Given the description of an element on the screen output the (x, y) to click on. 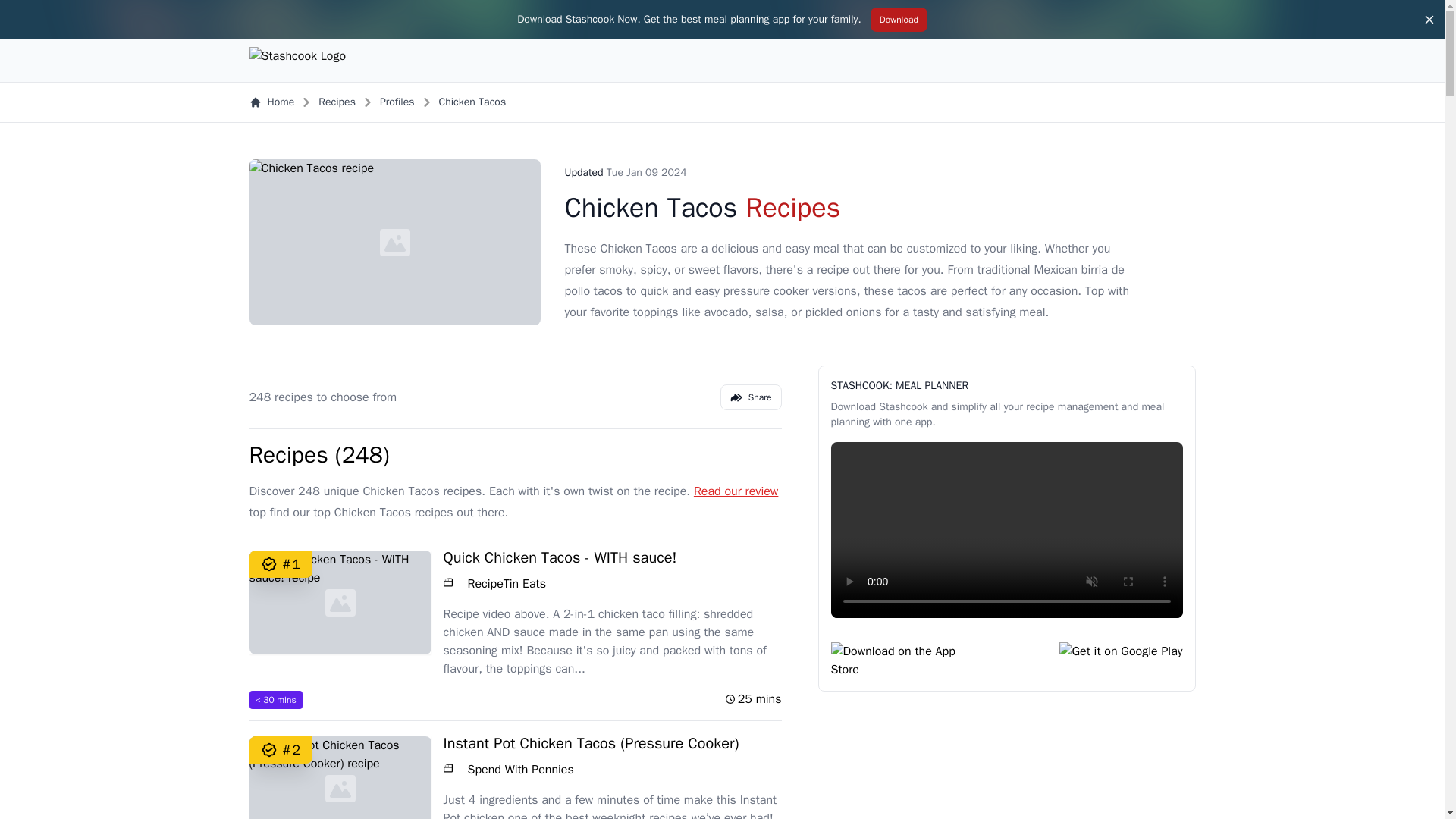
Dismiss (1428, 19)
Profiles (397, 102)
Download (898, 19)
Recipes (336, 102)
Chicken Tacos (472, 102)
Share (750, 397)
Home (271, 102)
Read our review (736, 491)
Tue Jan 09 2024 (647, 172)
